Given the description of an element on the screen output the (x, y) to click on. 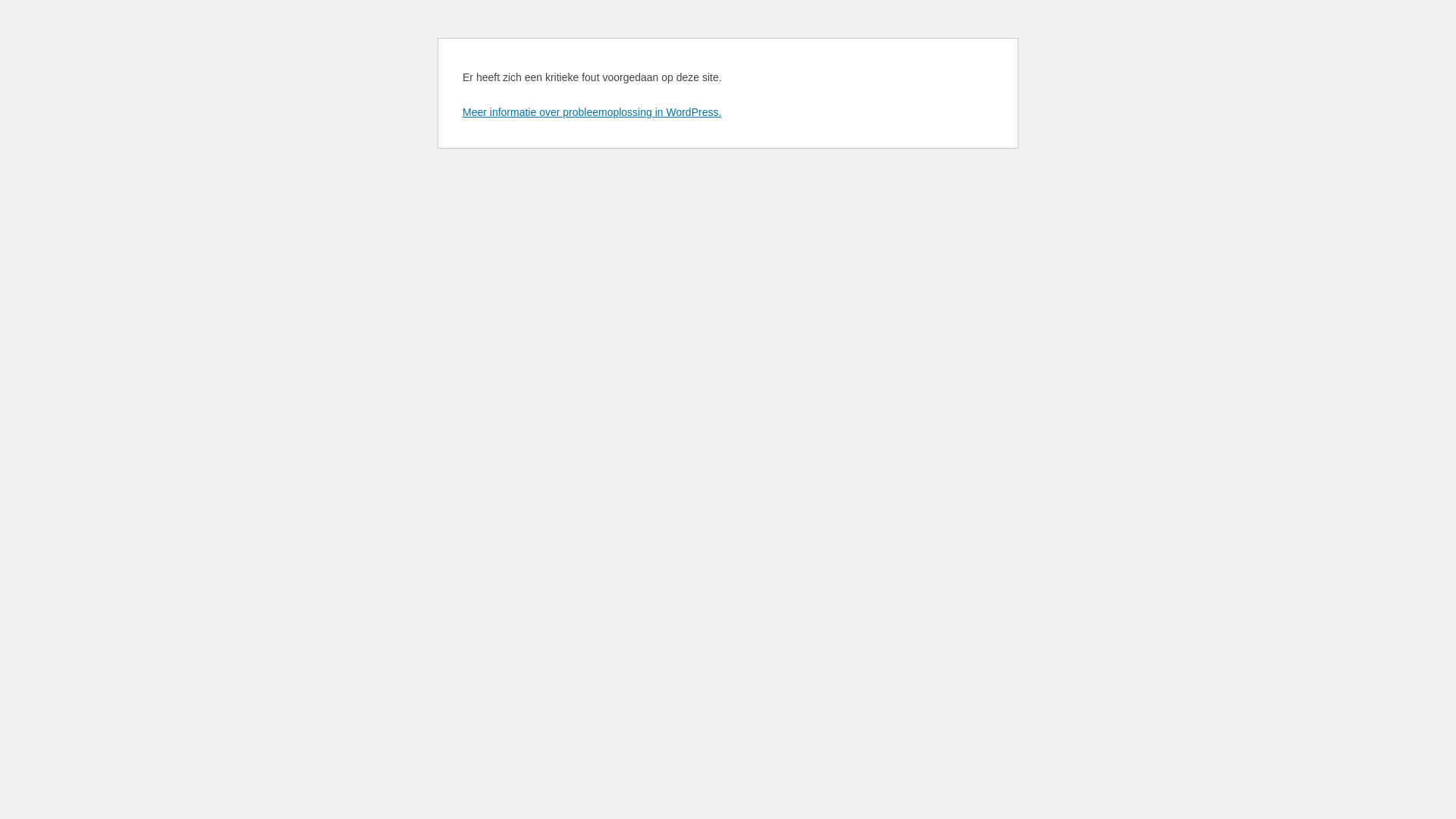
Meer informatie over probleemoplossing in WordPress. Element type: text (591, 112)
